Given the description of an element on the screen output the (x, y) to click on. 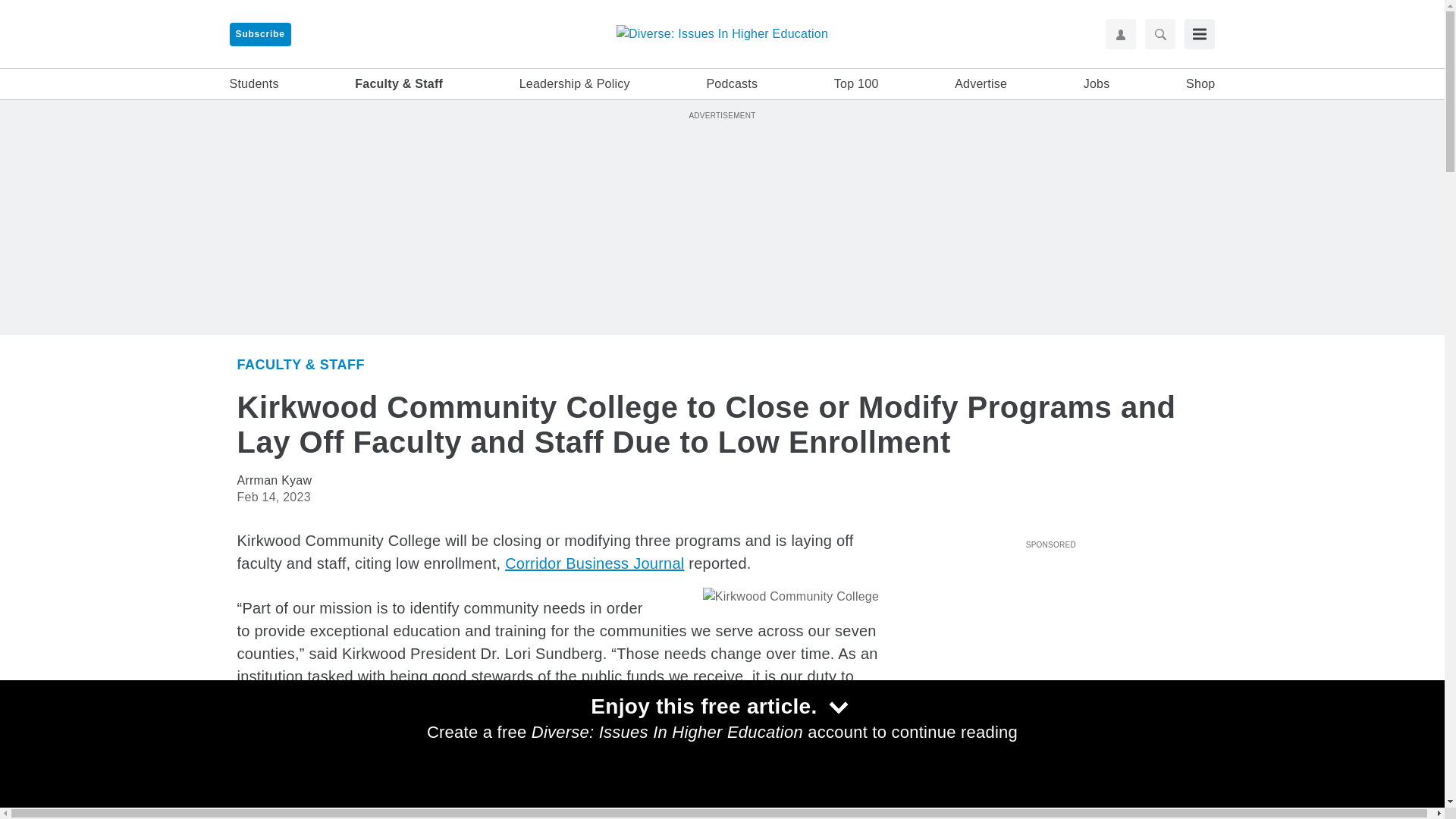
Advertise (981, 84)
Podcasts (731, 84)
Subscribe (258, 33)
Subscribe (258, 33)
Youtube Player (1050, 640)
Top 100 (856, 84)
Shop (1200, 84)
Jobs (1096, 84)
Students (253, 84)
